Given the description of an element on the screen output the (x, y) to click on. 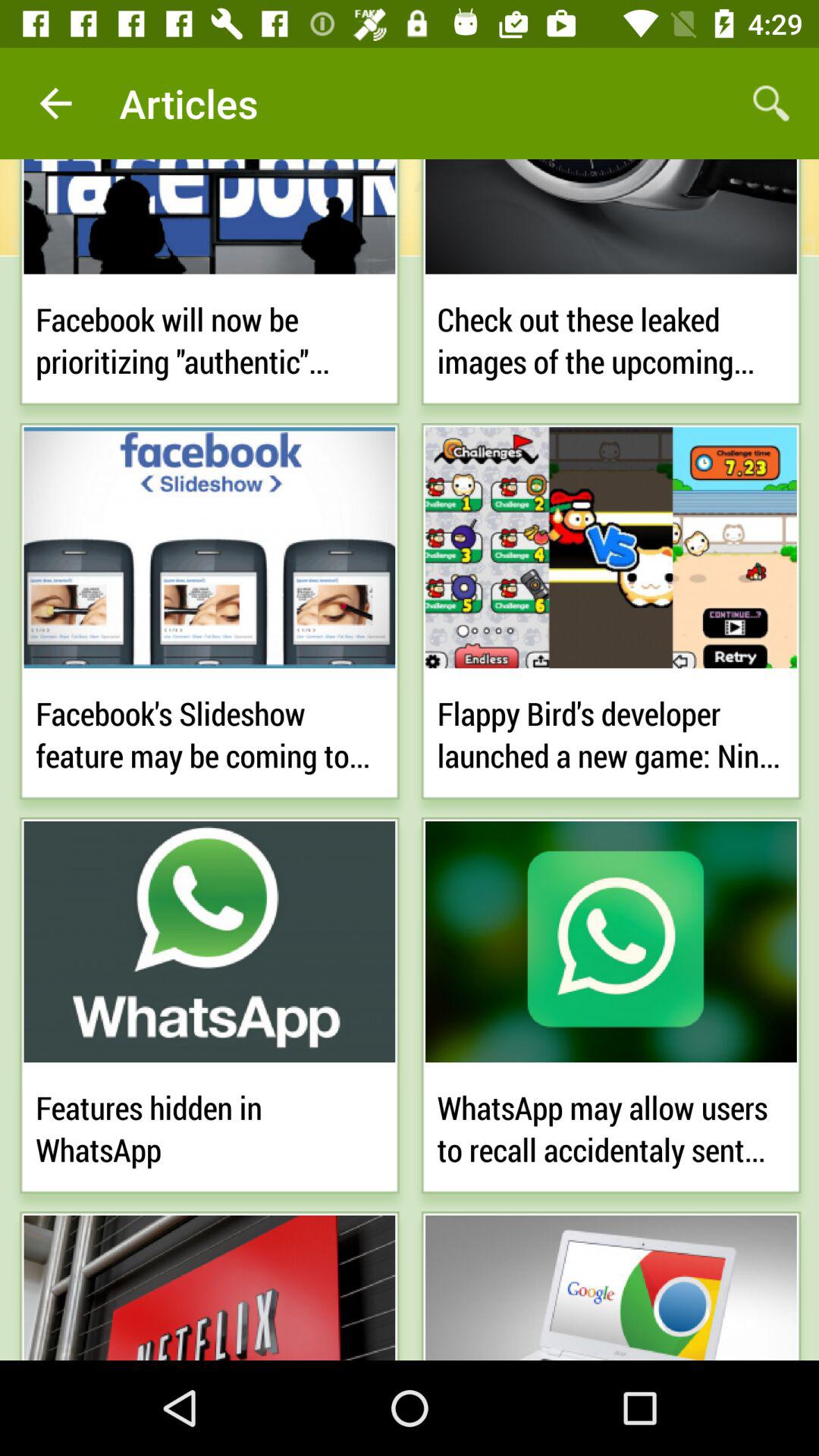
launch features hidden in icon (209, 1125)
